Given the description of an element on the screen output the (x, y) to click on. 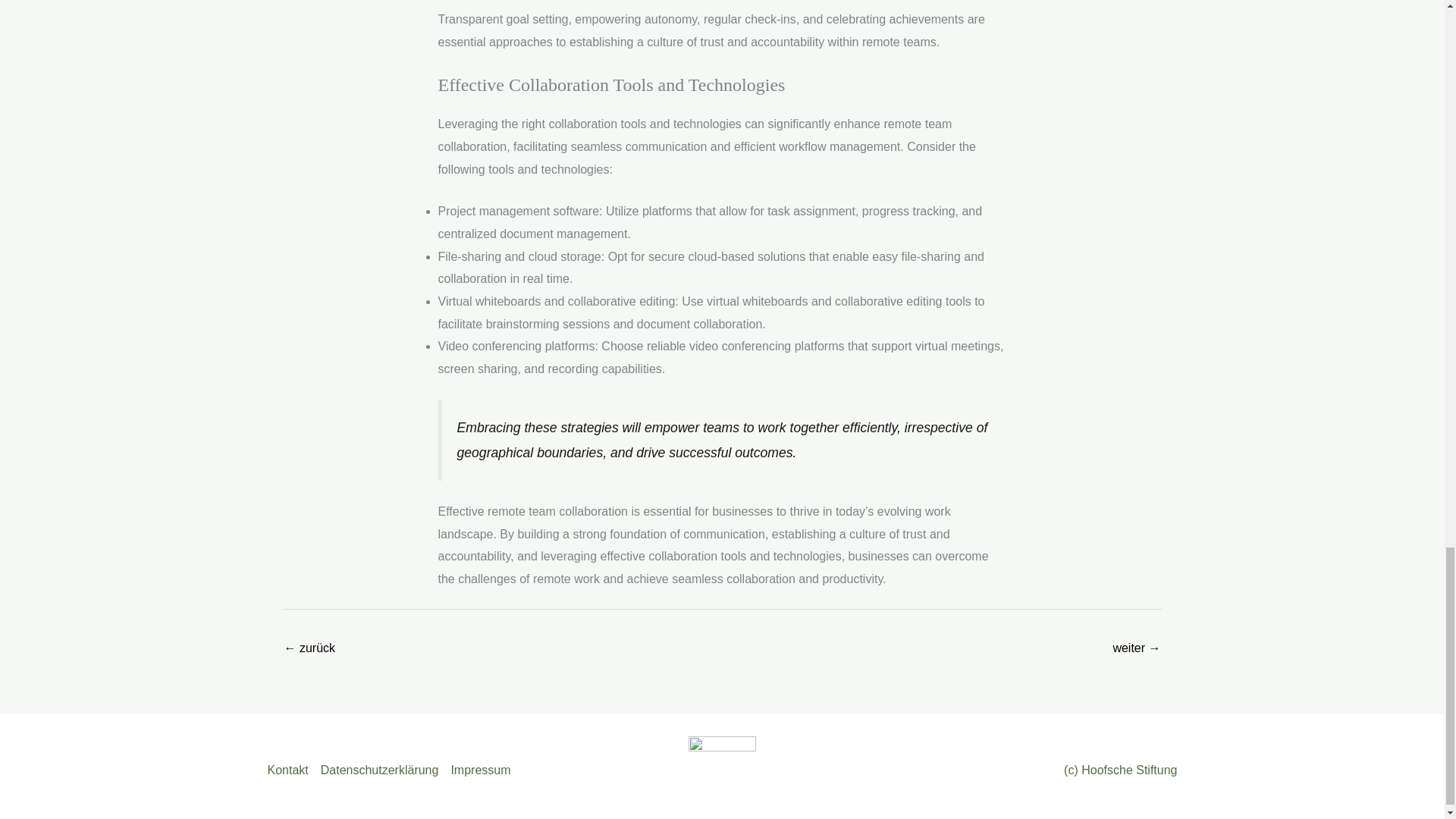
Kontakt (290, 770)
Mastering Financial Decision-Making (308, 649)
Impressum (477, 770)
Effective Budgeting Techniques (1136, 649)
